Given the description of an element on the screen output the (x, y) to click on. 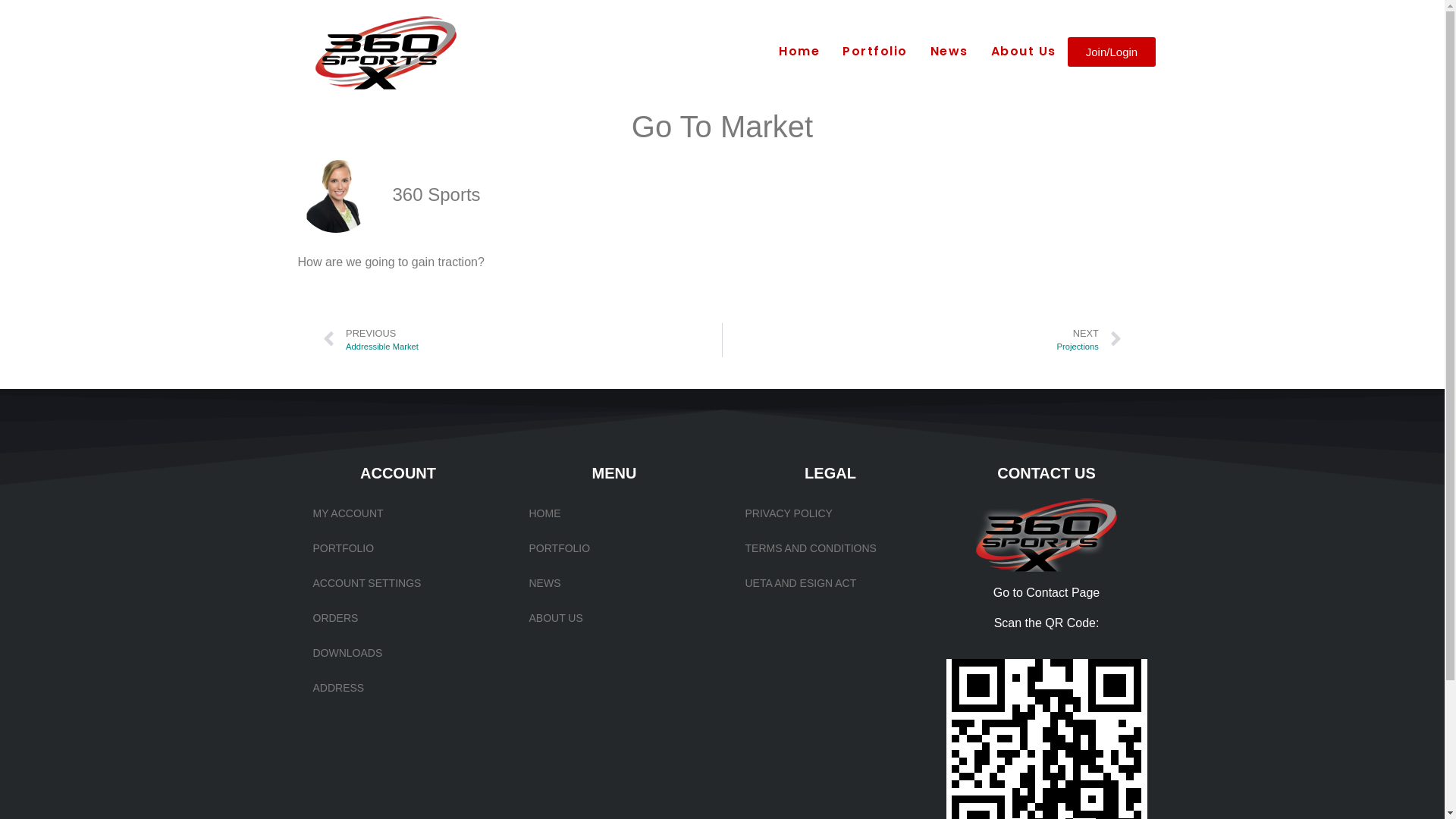
MY ACCOUNT Element type: text (397, 512)
UETA AND ESIGN ACT Element type: text (829, 582)
PORTFOLIO Element type: text (397, 547)
Home Element type: text (798, 51)
ACCOUNT SETTINGS Element type: text (397, 582)
About Us Element type: text (1023, 51)
ORDERS Element type: text (397, 617)
DOWNLOADS Element type: text (397, 652)
News Element type: text (949, 51)
Portfolio Element type: text (874, 51)
ADDRESS Element type: text (397, 687)
ABOUT US Element type: text (614, 617)
PRIVACY POLICY Element type: text (829, 512)
HOME Element type: text (614, 512)
Go to Contact Page Element type: text (1046, 592)
TERMS AND CONDITIONS Element type: text (829, 547)
NEXT
Projections Element type: text (921, 340)
PORTFOLIO Element type: text (614, 547)
NEWS Element type: text (614, 582)
PREVIOUS
Addressible Market Element type: text (522, 340)
Join/Login Element type: text (1111, 51)
